Given the description of an element on the screen output the (x, y) to click on. 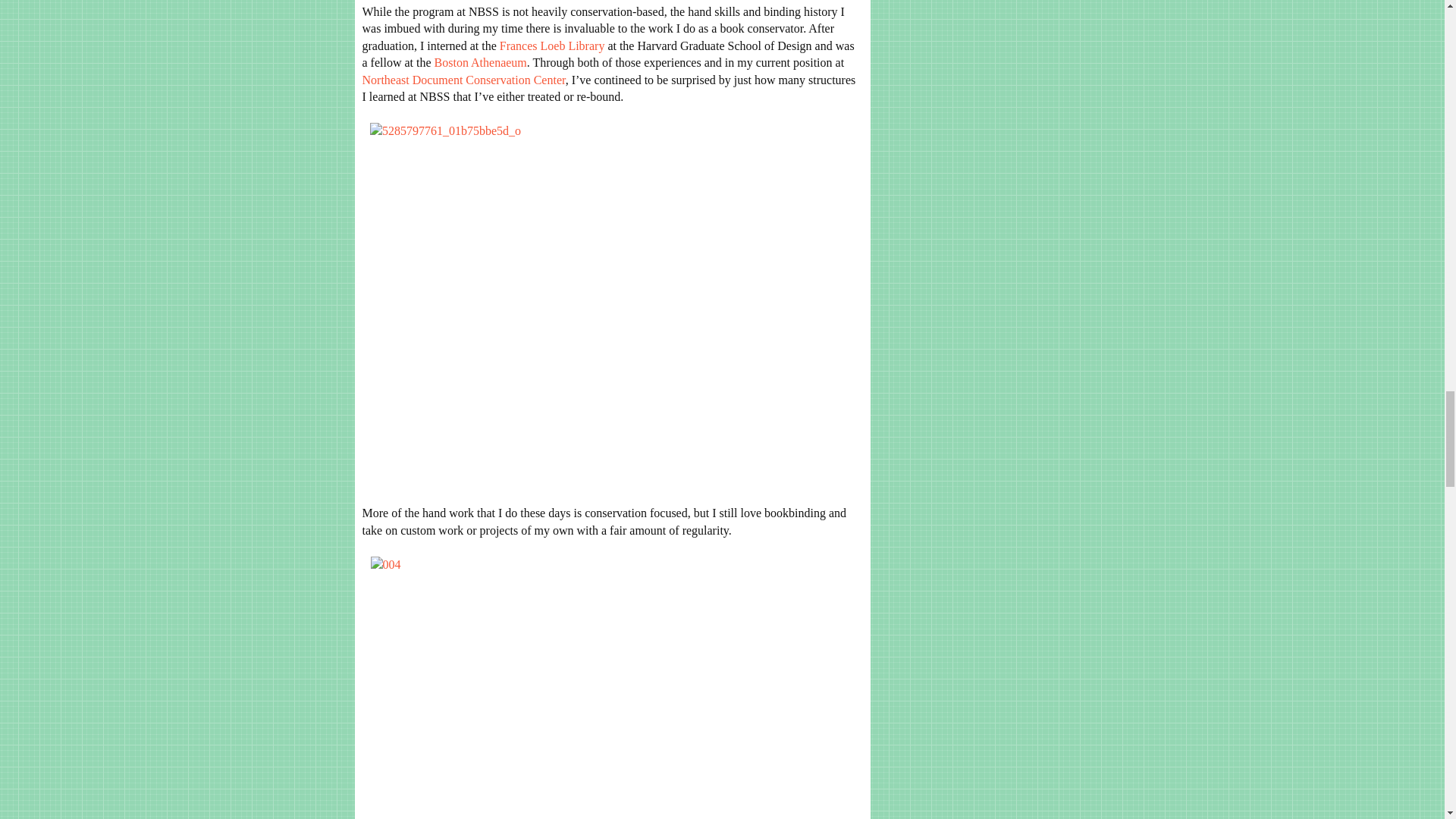
Frances Loeb Library (552, 45)
Boston Athenaeum (480, 62)
Northeast Document Conservation Center (464, 79)
